Given the description of an element on the screen output the (x, y) to click on. 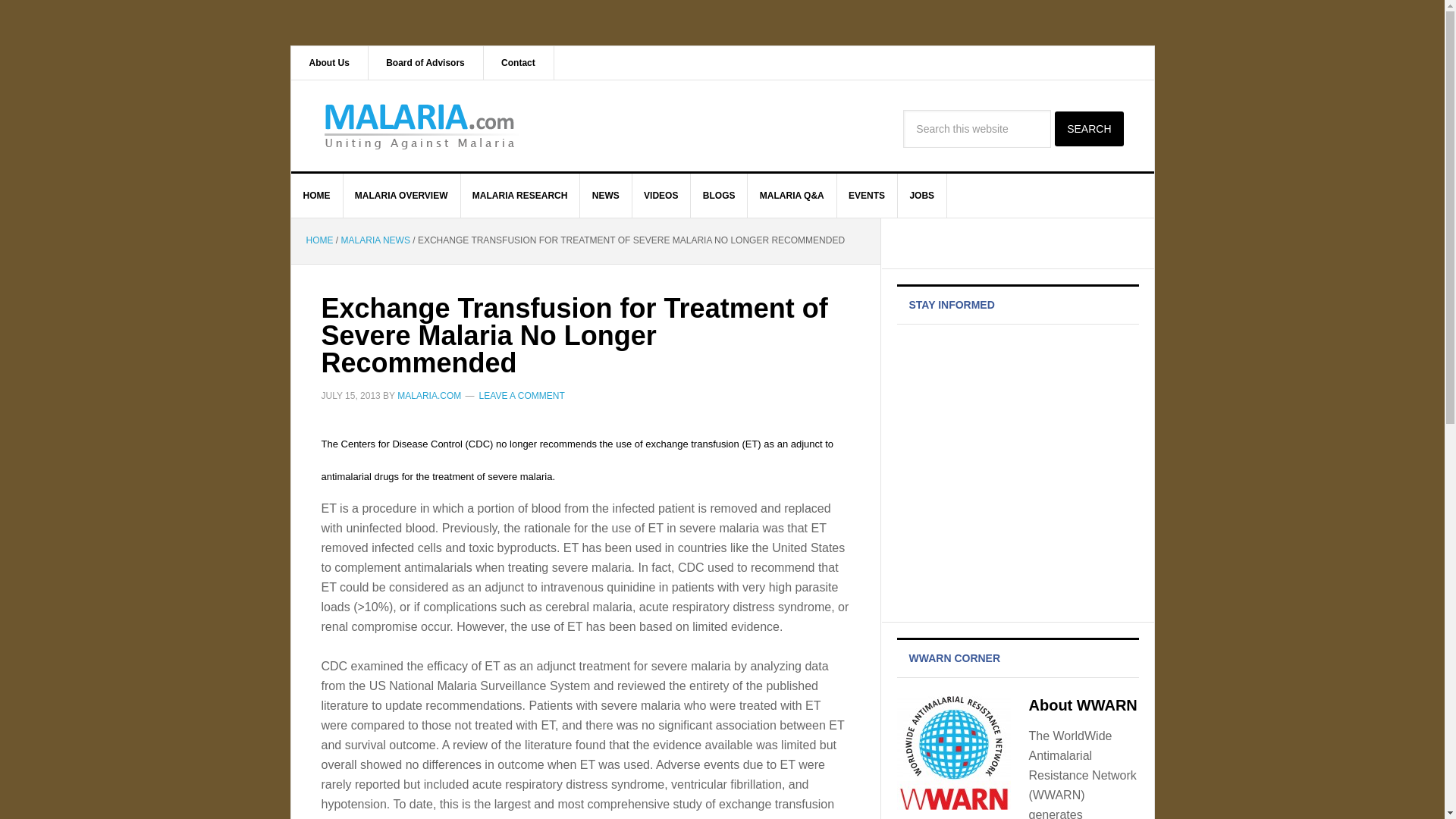
About WWARN (1082, 704)
Search (1088, 128)
HOME (319, 240)
EVENTS (866, 195)
MALARIA.COM (429, 394)
Contact (518, 62)
MALARIA.COM (419, 125)
BLOGS (719, 195)
Search (1088, 128)
HOME (317, 195)
MALARIA NEWS (375, 240)
NEWS (605, 195)
Board of Advisors (425, 62)
LEAVE A COMMENT (521, 394)
MALARIA RESEARCH (520, 195)
